Given the description of an element on the screen output the (x, y) to click on. 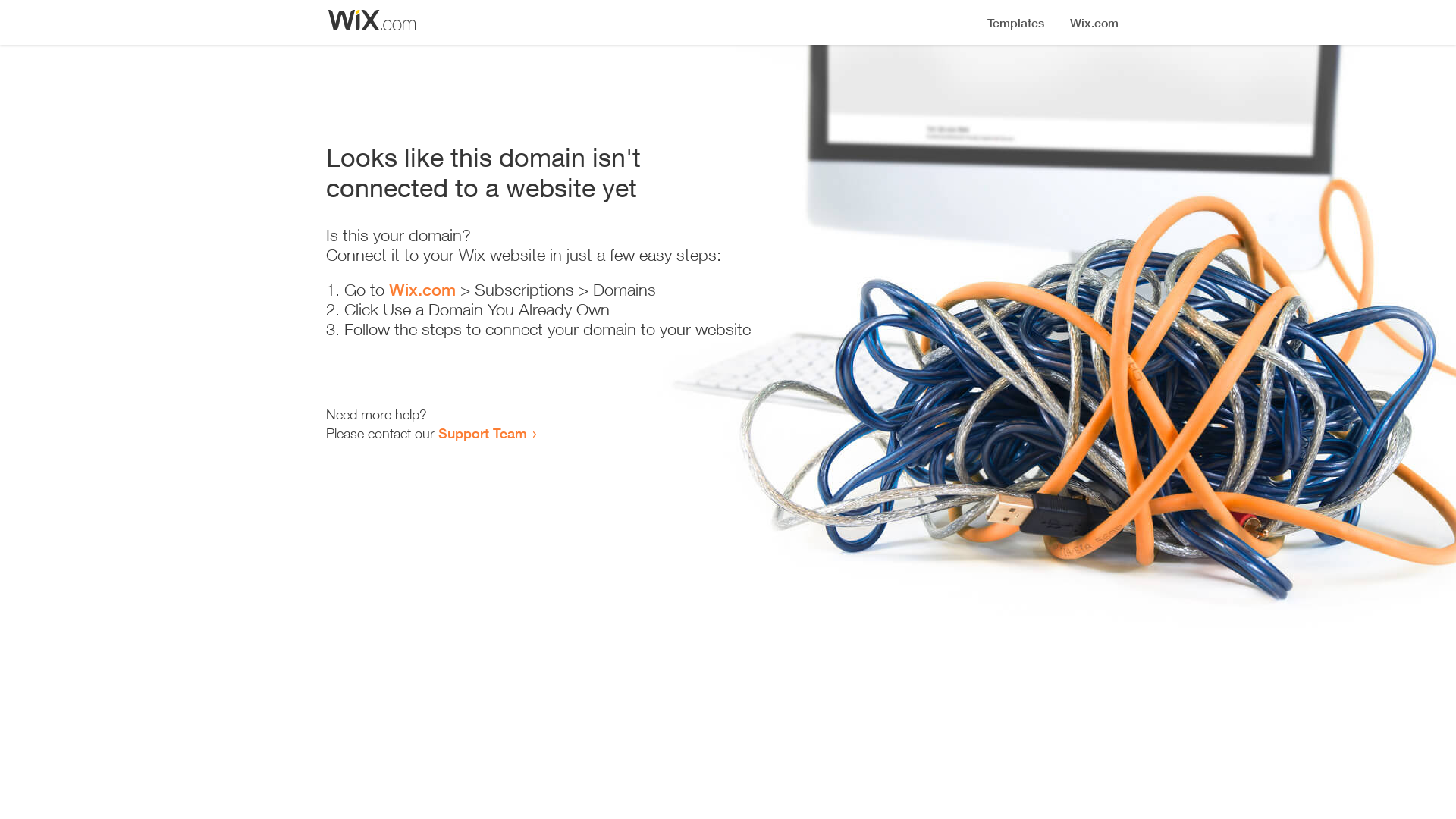
Support Team Element type: text (482, 432)
Wix.com Element type: text (422, 289)
